Given the description of an element on the screen output the (x, y) to click on. 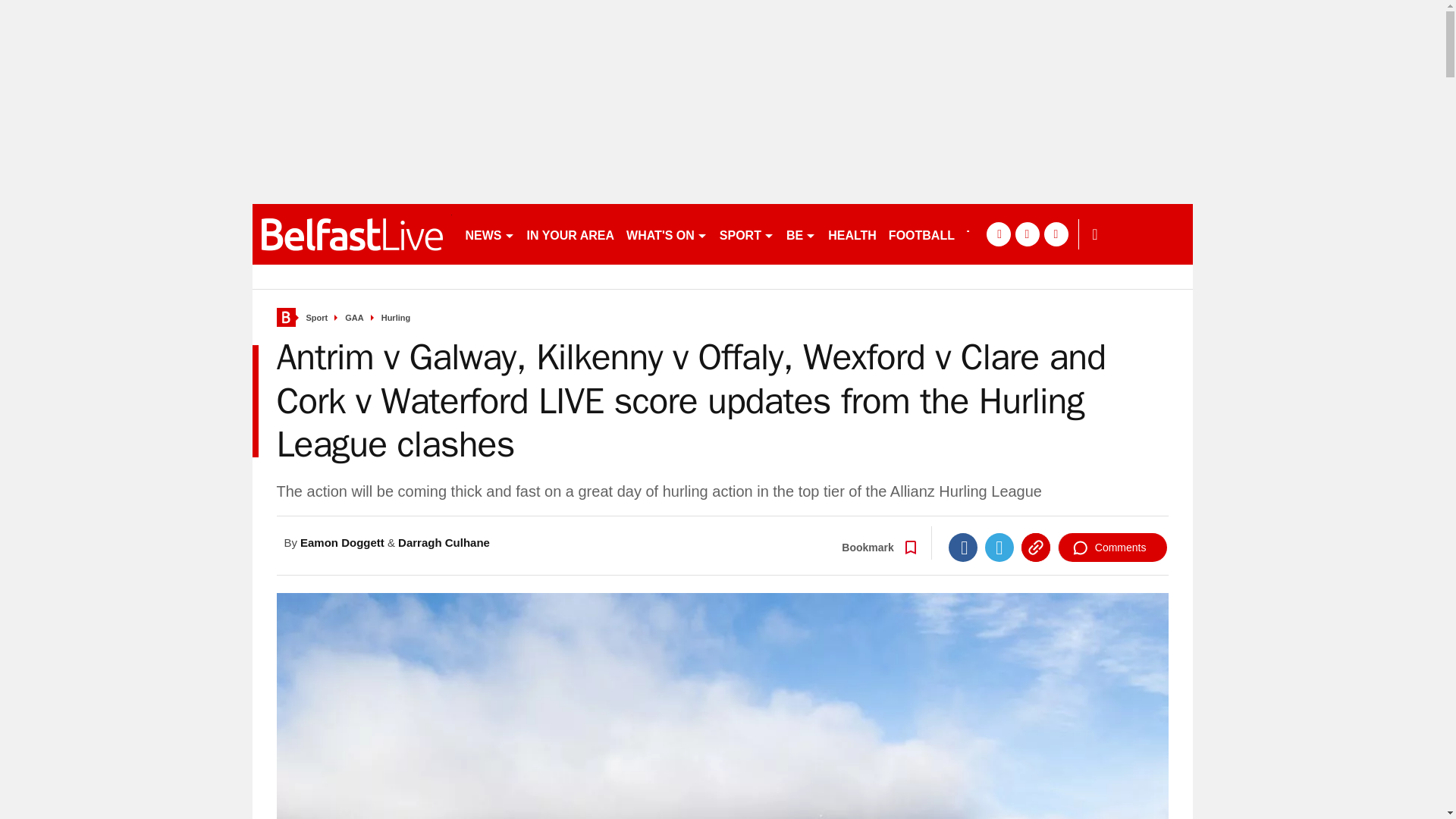
instagram (1055, 233)
Twitter (999, 547)
Facebook (962, 547)
Comments (1112, 547)
WHAT'S ON (666, 233)
twitter (1026, 233)
SPORT (746, 233)
belfastlive (351, 233)
NEWS (490, 233)
IN YOUR AREA (569, 233)
facebook (997, 233)
